Given the description of an element on the screen output the (x, y) to click on. 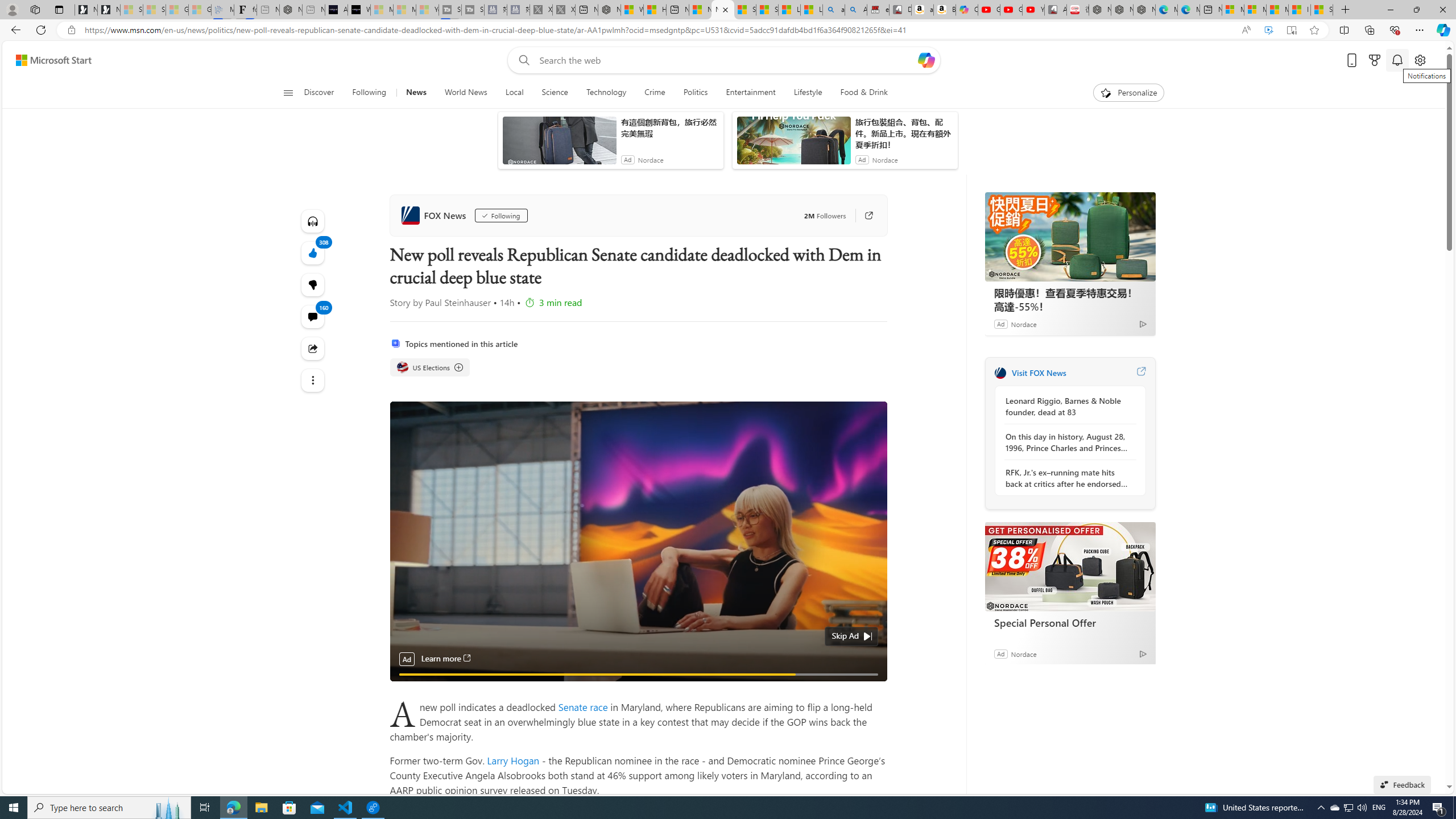
Dislike (312, 284)
video progress bar (637, 674)
Gloom - YouTube (1010, 9)
Enter your search term (726, 59)
Personalize (1128, 92)
Lifestyle (807, 92)
Local (514, 92)
Listen to this article (312, 221)
Unmute (871, 688)
Newsletter Sign Up (109, 9)
More like this308Fewer like thisView comments (312, 284)
Entertainment (750, 92)
